Given the description of an element on the screen output the (x, y) to click on. 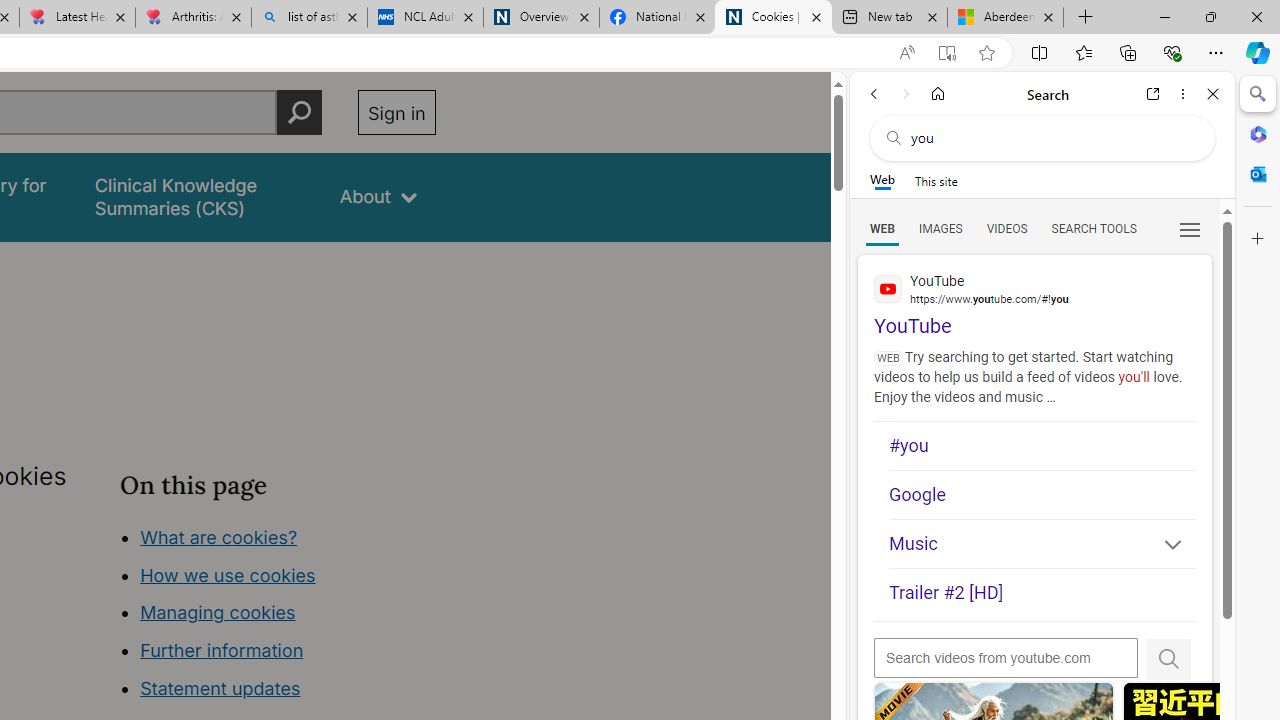
Search the web (1051, 137)
Statement updates (219, 688)
IMAGES (939, 228)
Music (1042, 543)
Forward (906, 93)
Show More Music (1164, 546)
#you (1042, 445)
